Given the description of an element on the screen output the (x, y) to click on. 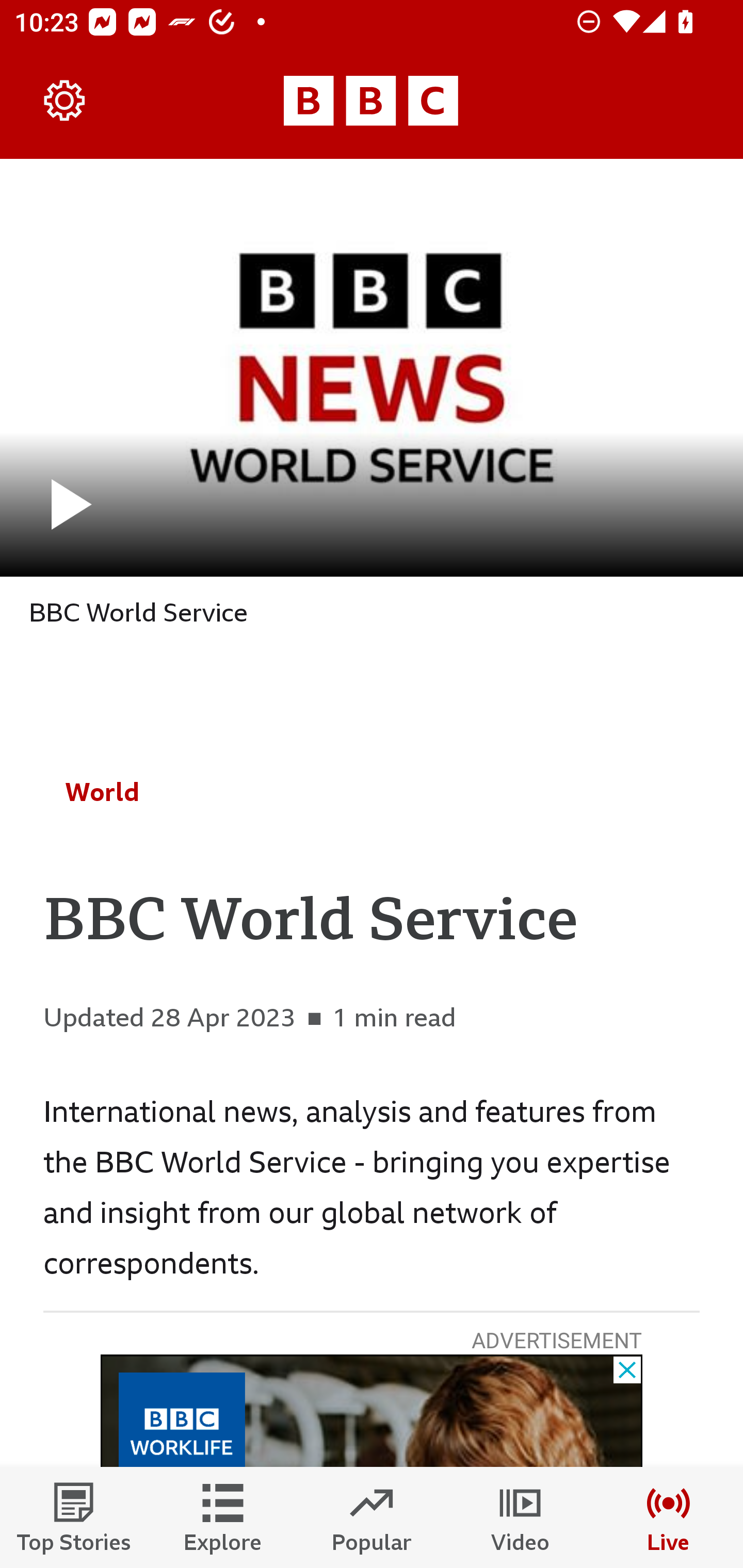
Settings (64, 100)
play fullscreen (371, 367)
World (102, 791)
Top Stories (74, 1517)
Explore (222, 1517)
Popular (371, 1517)
Video (519, 1517)
